Given the description of an element on the screen output the (x, y) to click on. 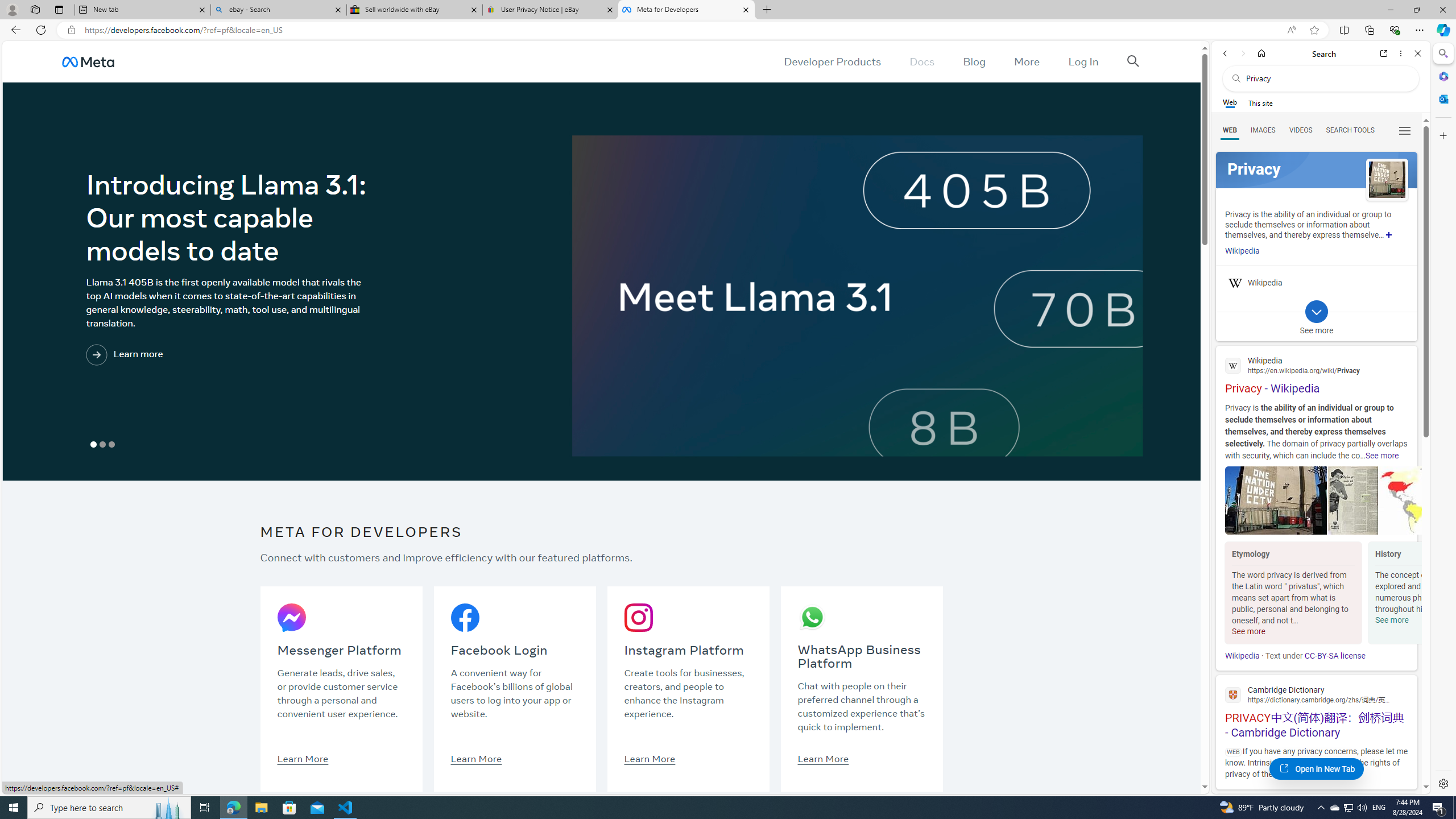
Privacy - Wikipedia (1315, 373)
Side bar (1443, 418)
Learn more (171, 355)
Class: b_serphb (1404, 130)
See more images of Privacy (1386, 179)
